Given the description of an element on the screen output the (x, y) to click on. 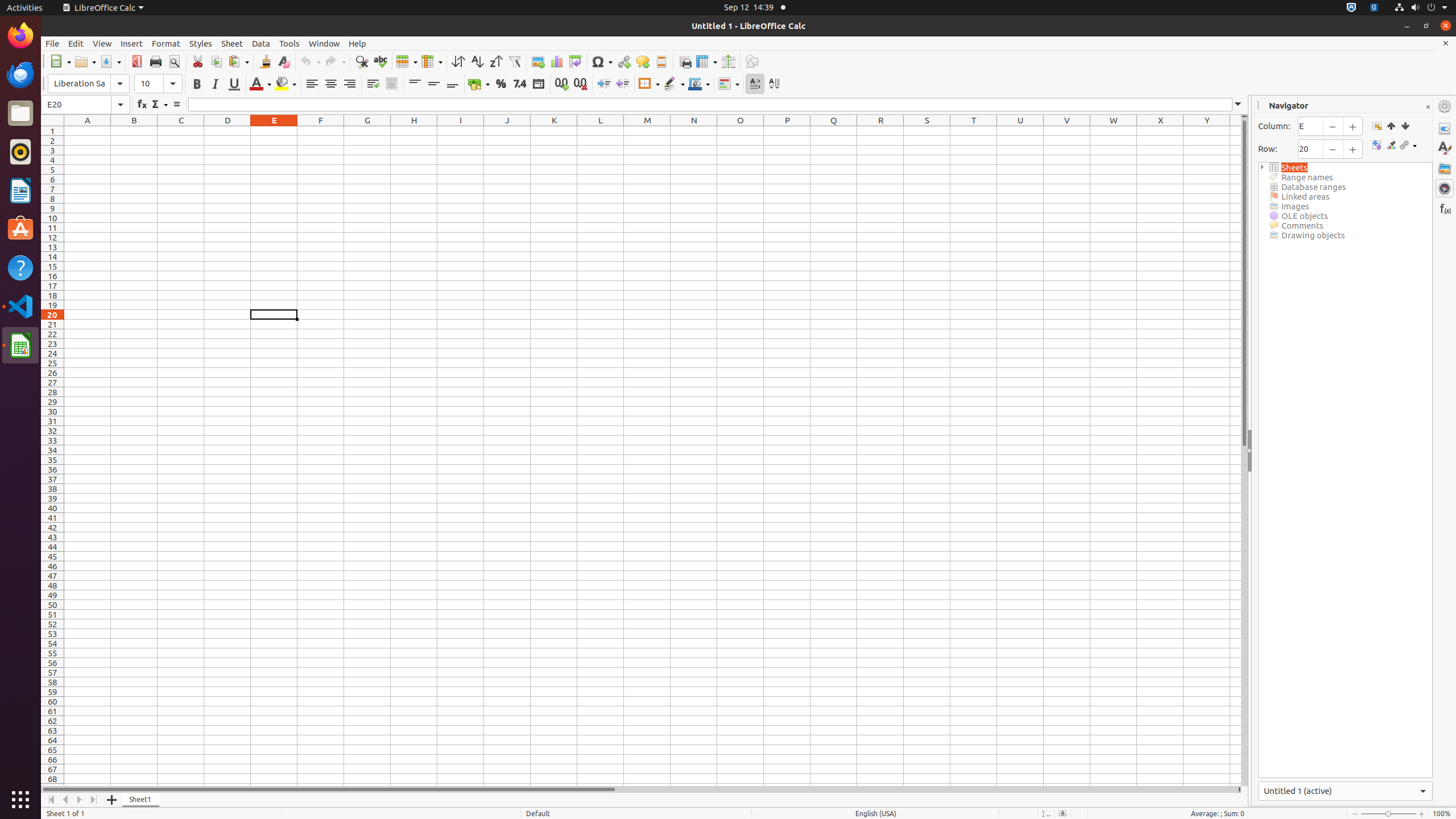
LibreOffice Calc Element type: push-button (20, 344)
Edit Element type: menu (75, 43)
